Given the description of an element on the screen output the (x, y) to click on. 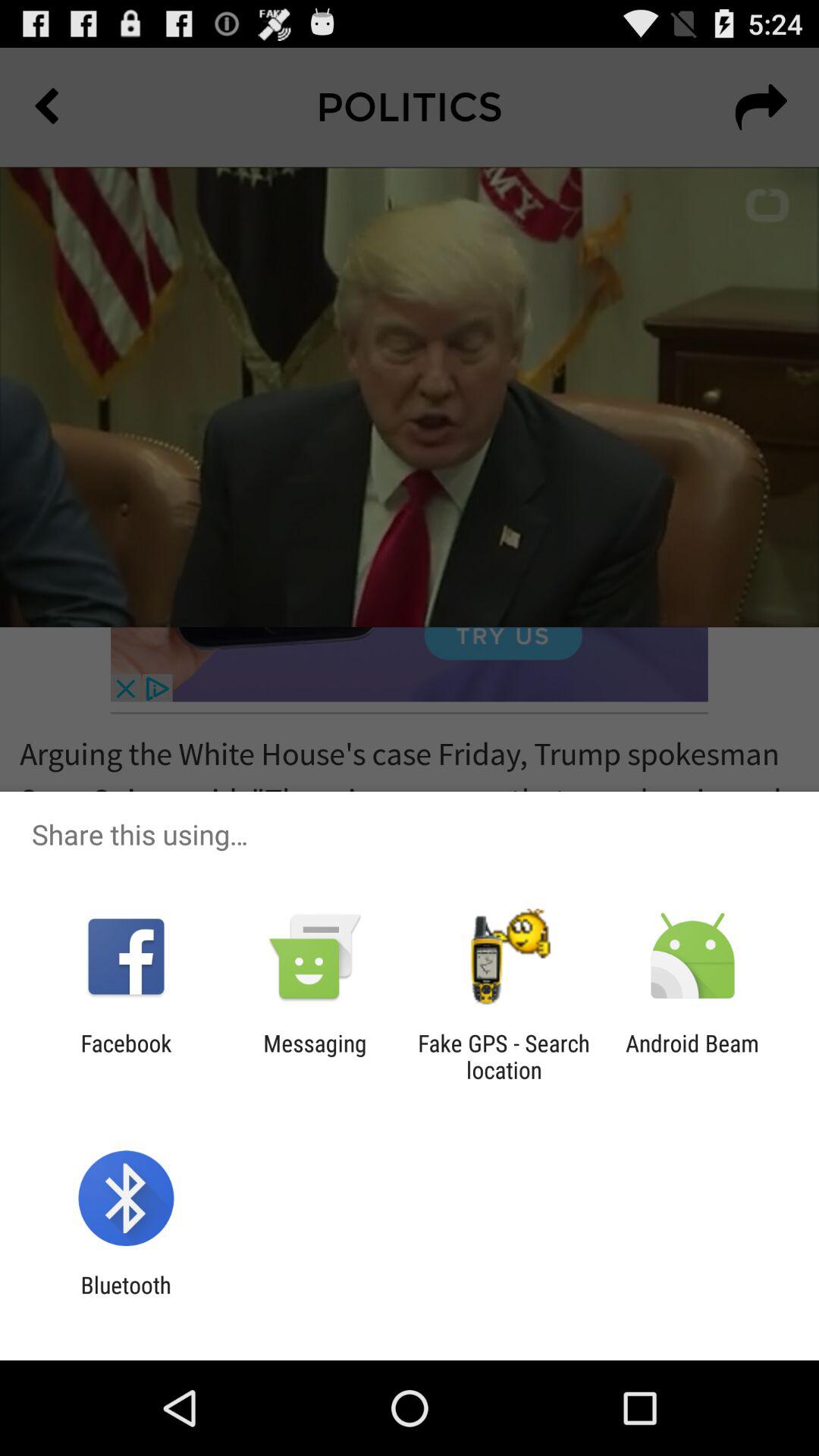
press app to the left of android beam app (503, 1056)
